Given the description of an element on the screen output the (x, y) to click on. 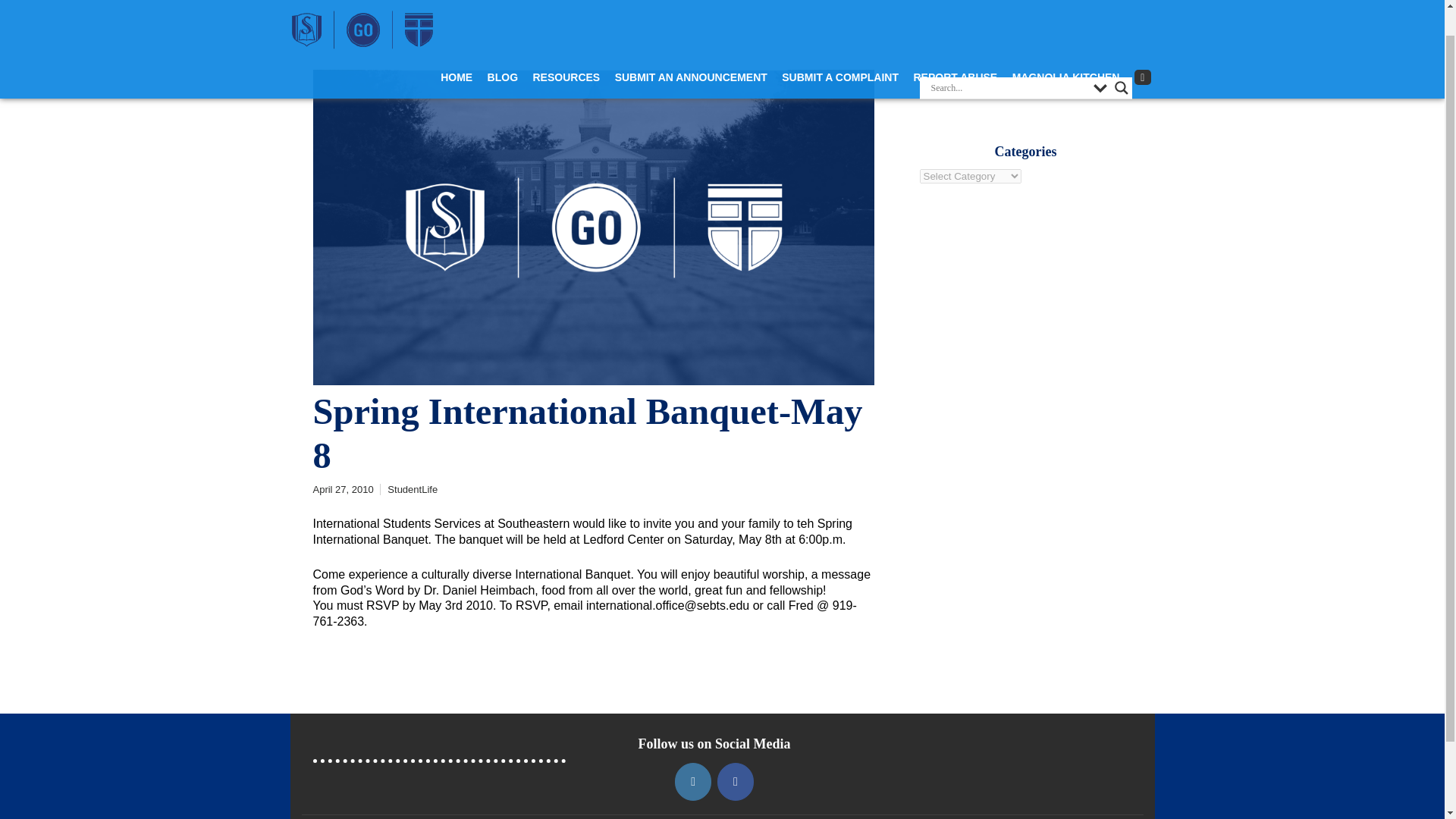
Around Southeastern on Instagram (693, 781)
HOME (456, 48)
BLOG (502, 48)
Around Southeastern on Facebook (735, 781)
SUBMIT AN ANNOUNCEMENT (690, 48)
RESOURCES (565, 48)
Posts by StudentLife (412, 489)
